Given the description of an element on the screen output the (x, y) to click on. 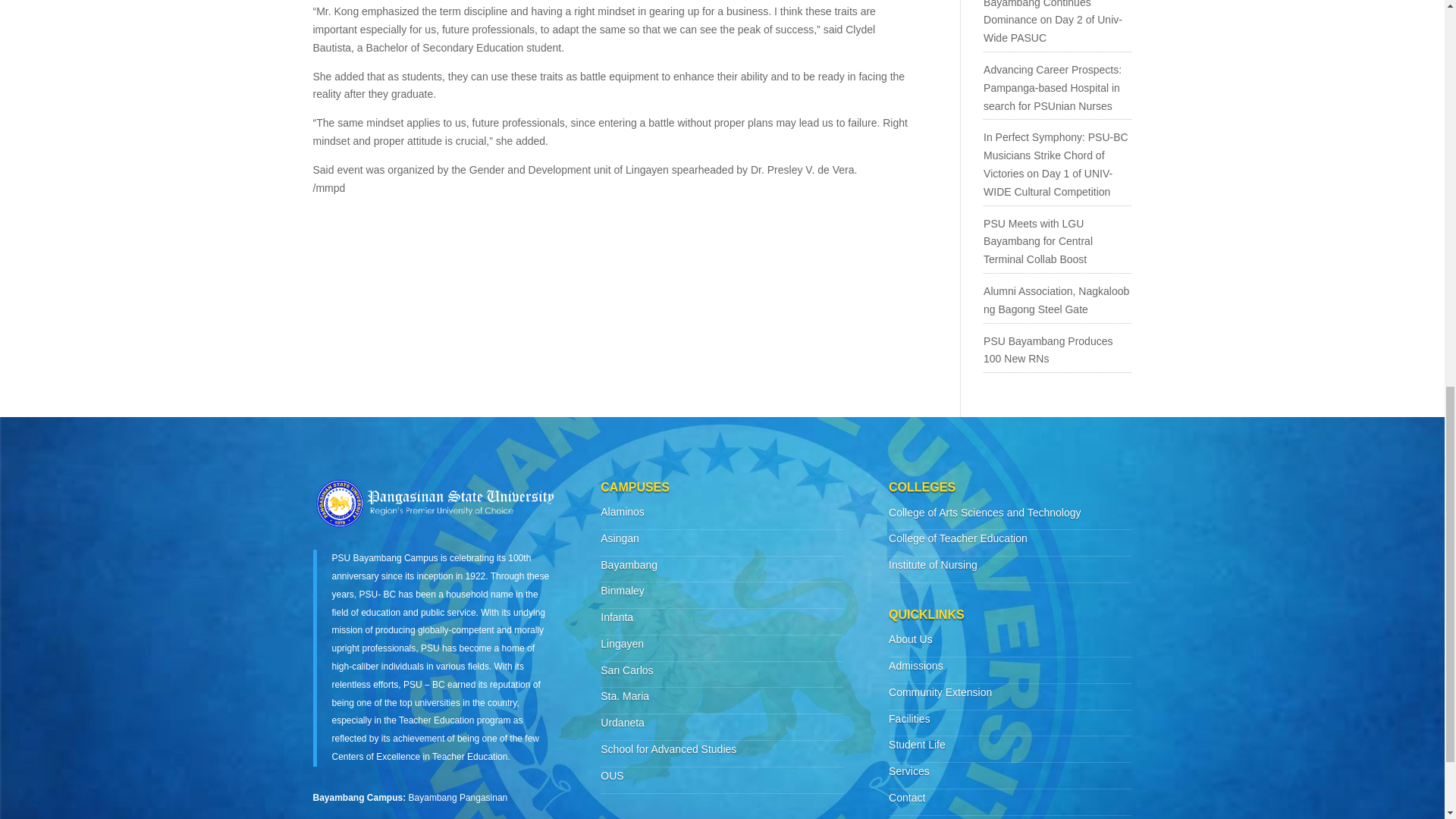
Pangasinan State University San Carlos Campus (625, 670)
Pangasinan State University Infanta Campus (616, 616)
Pangasinan State University Lingayen Campus (621, 644)
Pangasinan State University Binmaley Campus (622, 590)
Pangasinan State University Sta Maria Campus (624, 695)
PSU LABEL 2 (433, 502)
Pangasinan State University Asingan Campus (619, 538)
Pangasinan State University Urdaneta Campus (622, 722)
Pangasinan State University Bayambang Campus (628, 563)
Pangasinan State University Alaminos Campus (622, 511)
Pangasinan State University School for Advanced Studies (667, 748)
